Given the description of an element on the screen output the (x, y) to click on. 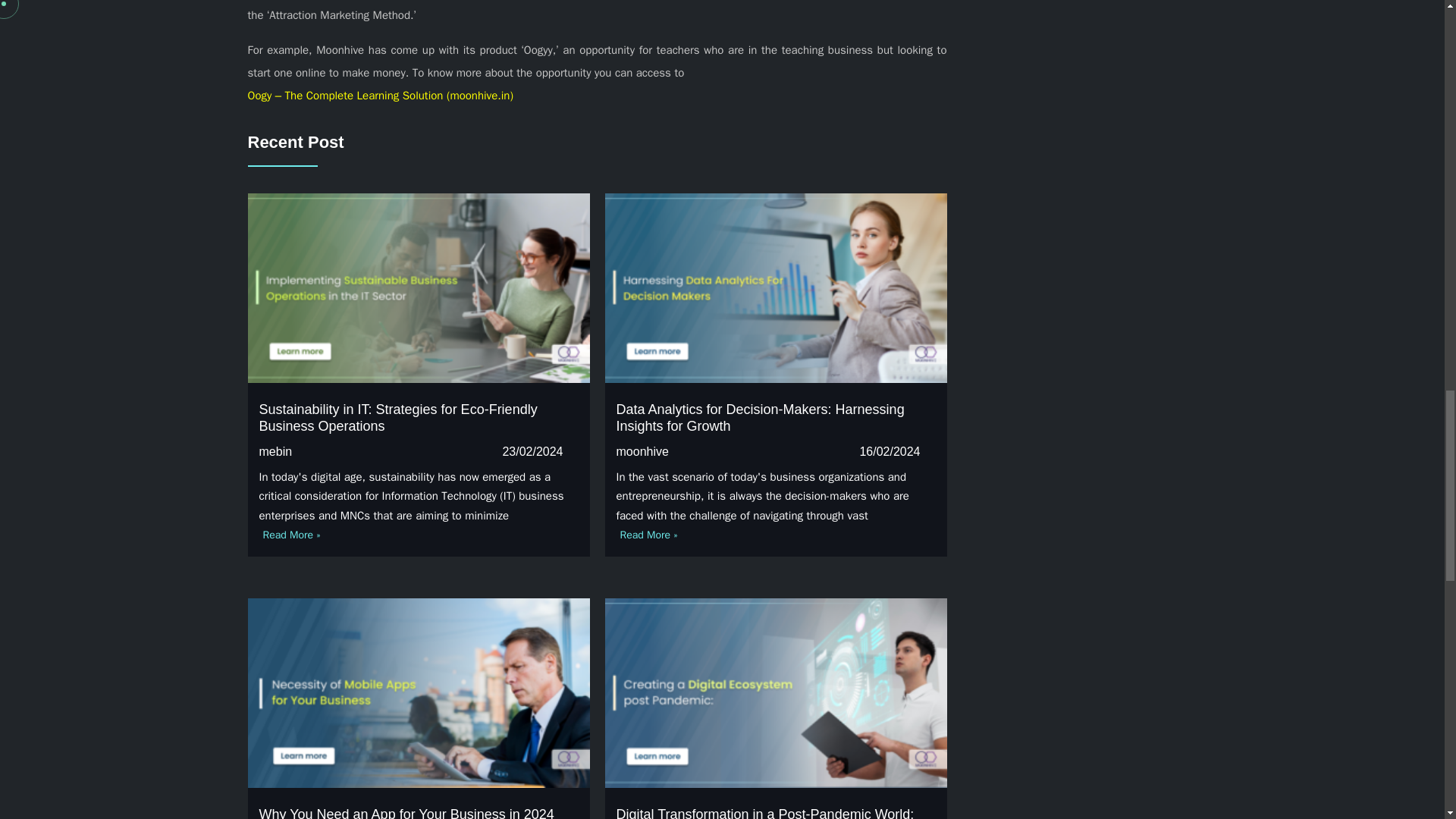
mebin (275, 451)
Why You Need an App for Your Business in 2024 (406, 812)
moonhive (641, 451)
